Given the description of an element on the screen output the (x, y) to click on. 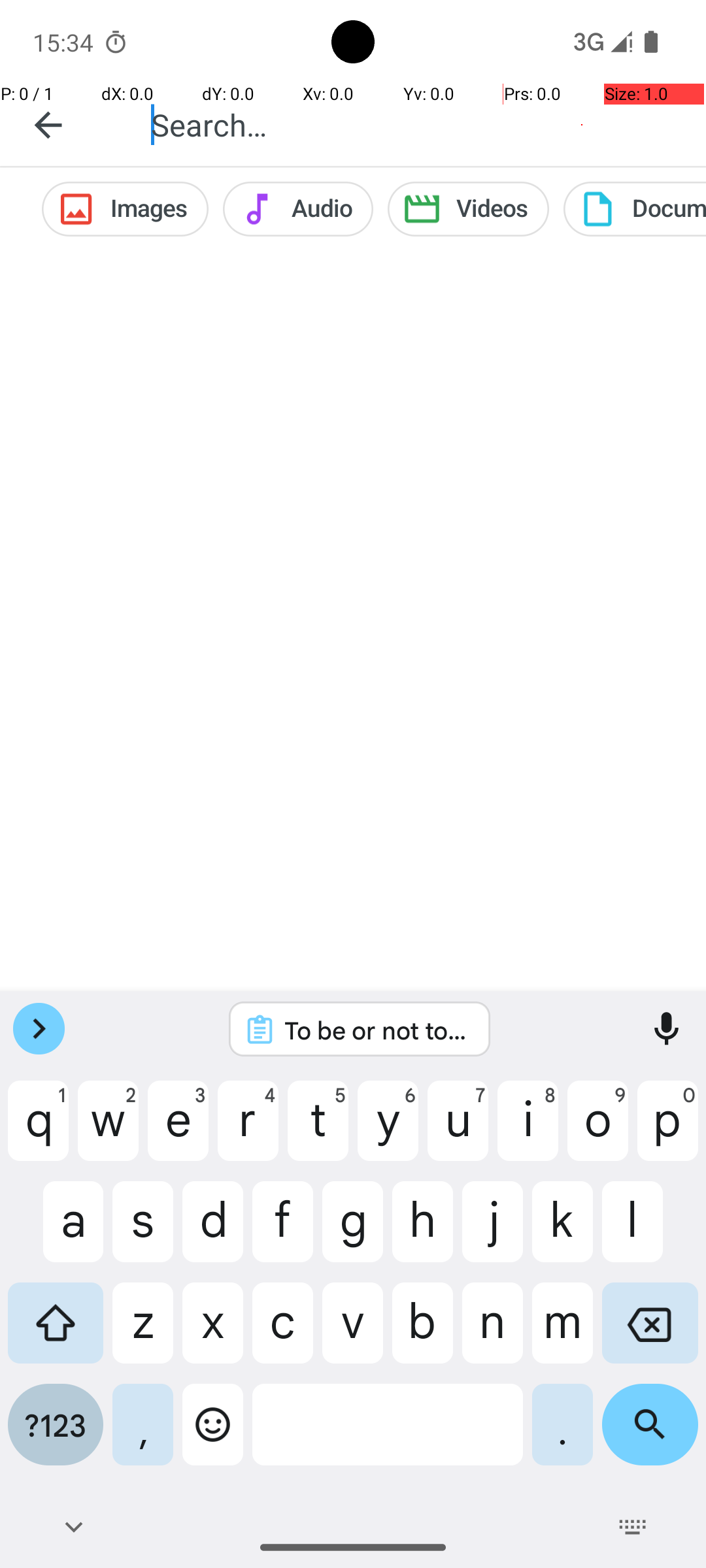
To be or not to be. Element type: android.widget.TextView (376, 1029)
